Given the description of an element on the screen output the (x, y) to click on. 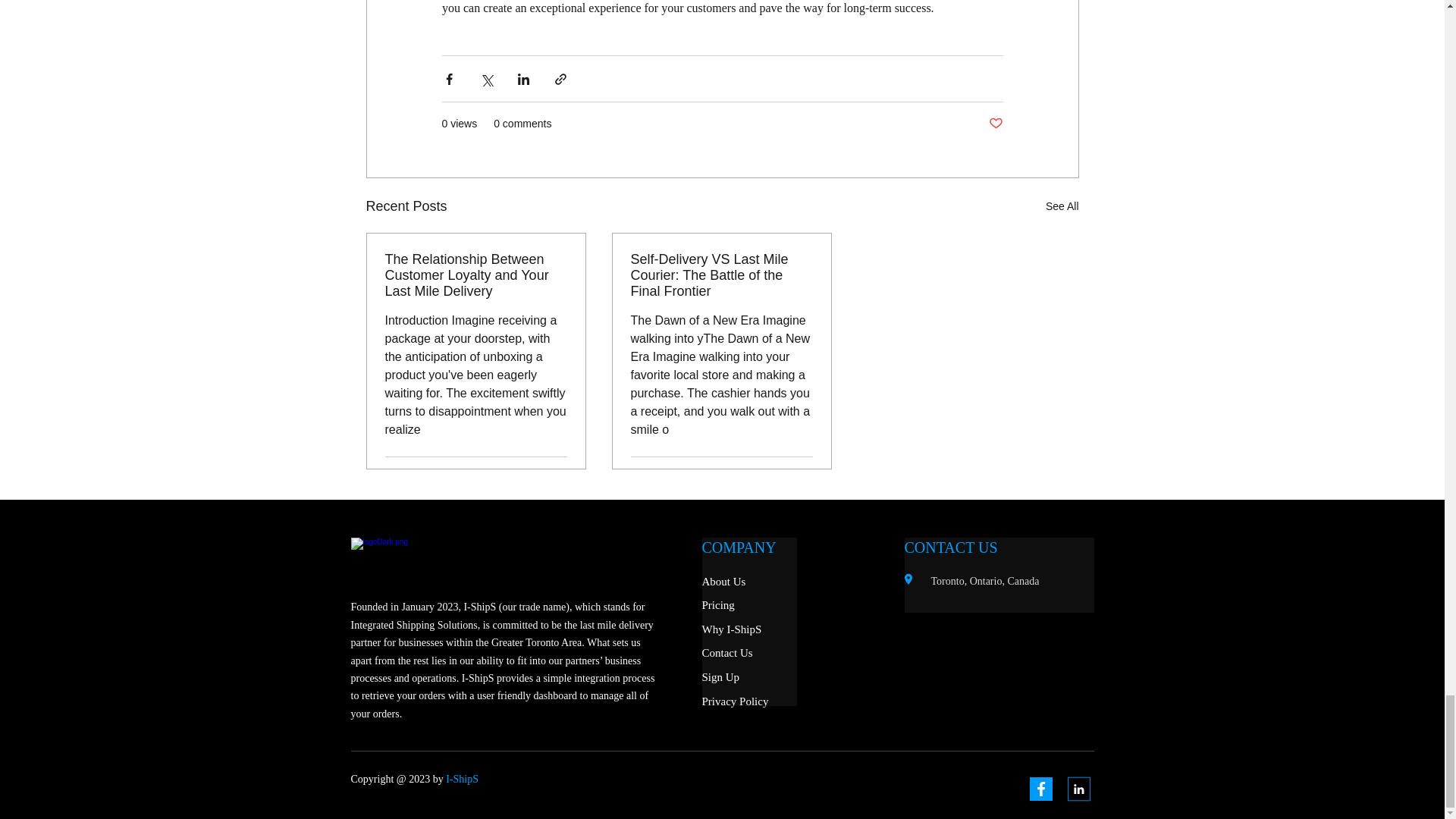
Post not marked as liked (995, 123)
Privacy Policy (734, 701)
Contact Us (726, 653)
About Us (723, 581)
Post not marked as liked (804, 475)
Post not marked as liked (558, 475)
Why I-ShipS (731, 629)
See All (1061, 206)
Sign Up (720, 676)
Pricing (718, 604)
